Given the description of an element on the screen output the (x, y) to click on. 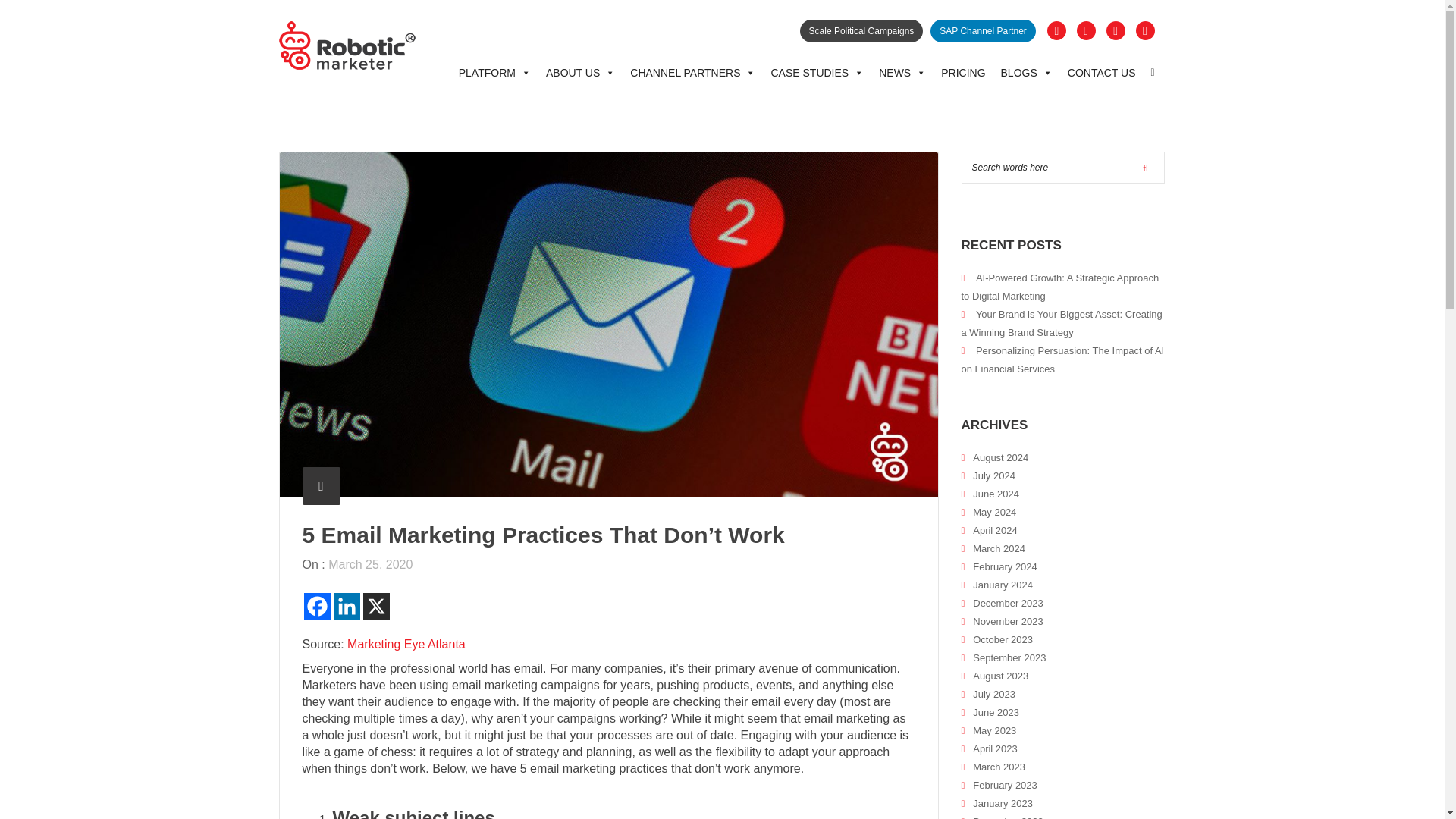
CASE STUDIES (816, 72)
PLATFORM (494, 72)
ABOUT US (580, 72)
Linkedin (346, 605)
Facebook (316, 605)
X (375, 605)
Scale Political Campaigns (861, 30)
SAP Channel Partner (982, 30)
NEWS (901, 72)
CHANNEL PARTNERS (692, 72)
